Given the description of an element on the screen output the (x, y) to click on. 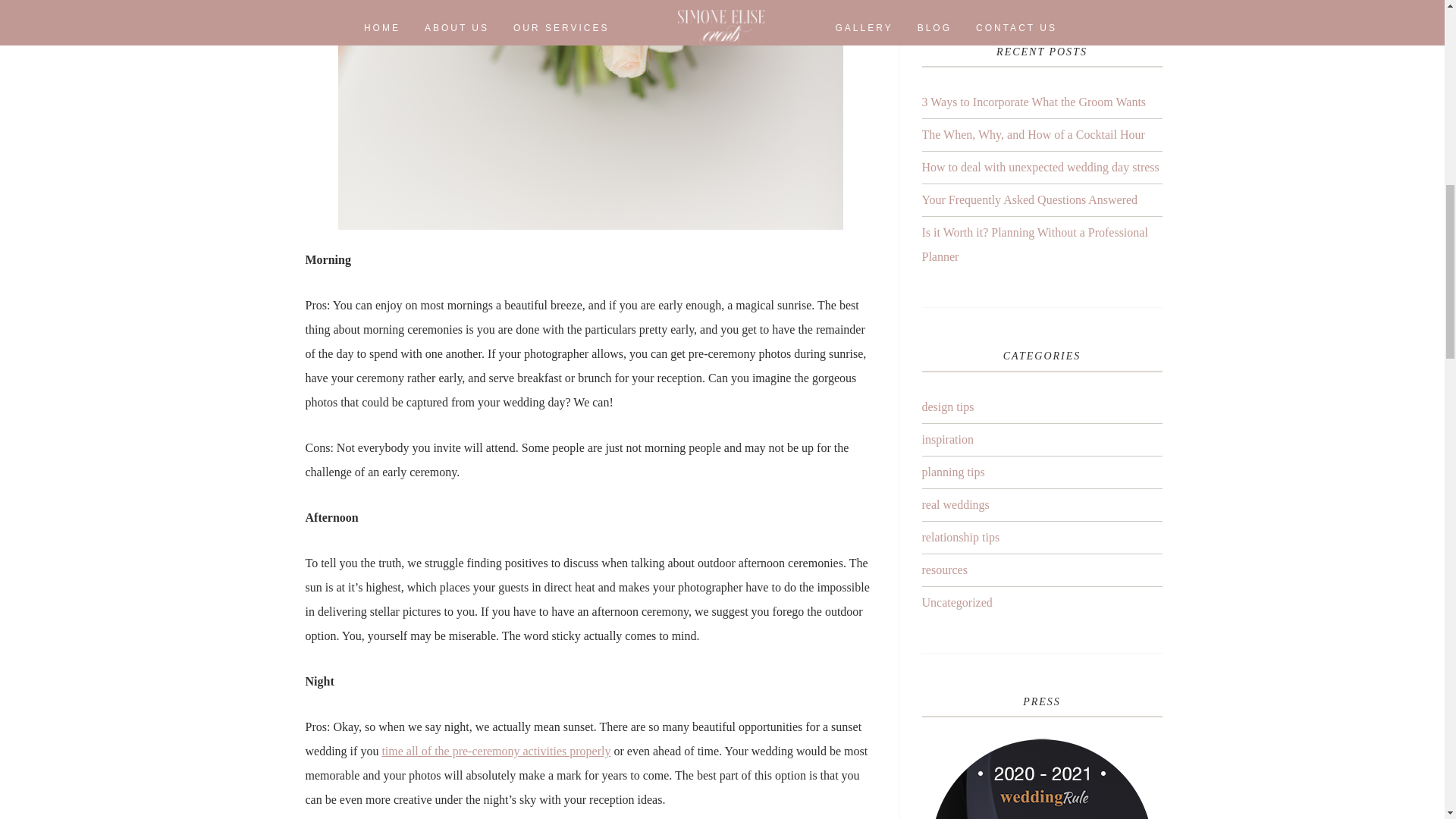
inspiration (947, 439)
design tips (947, 406)
Your Frequently Asked Questions Answered (1029, 199)
time all of the pre-ceremony activities properly (495, 750)
planning tips (953, 472)
3 Ways to Incorporate What the Groom Wants (1034, 101)
How to deal with unexpected wedding day stress (1039, 166)
The When, Why, and How of a Cocktail Hour (1032, 133)
resources (944, 569)
relationship tips (960, 536)
Uncategorized (956, 602)
Is it Worth it? Planning Without a Professional Planner (1034, 244)
real weddings (955, 504)
